Given the description of an element on the screen output the (x, y) to click on. 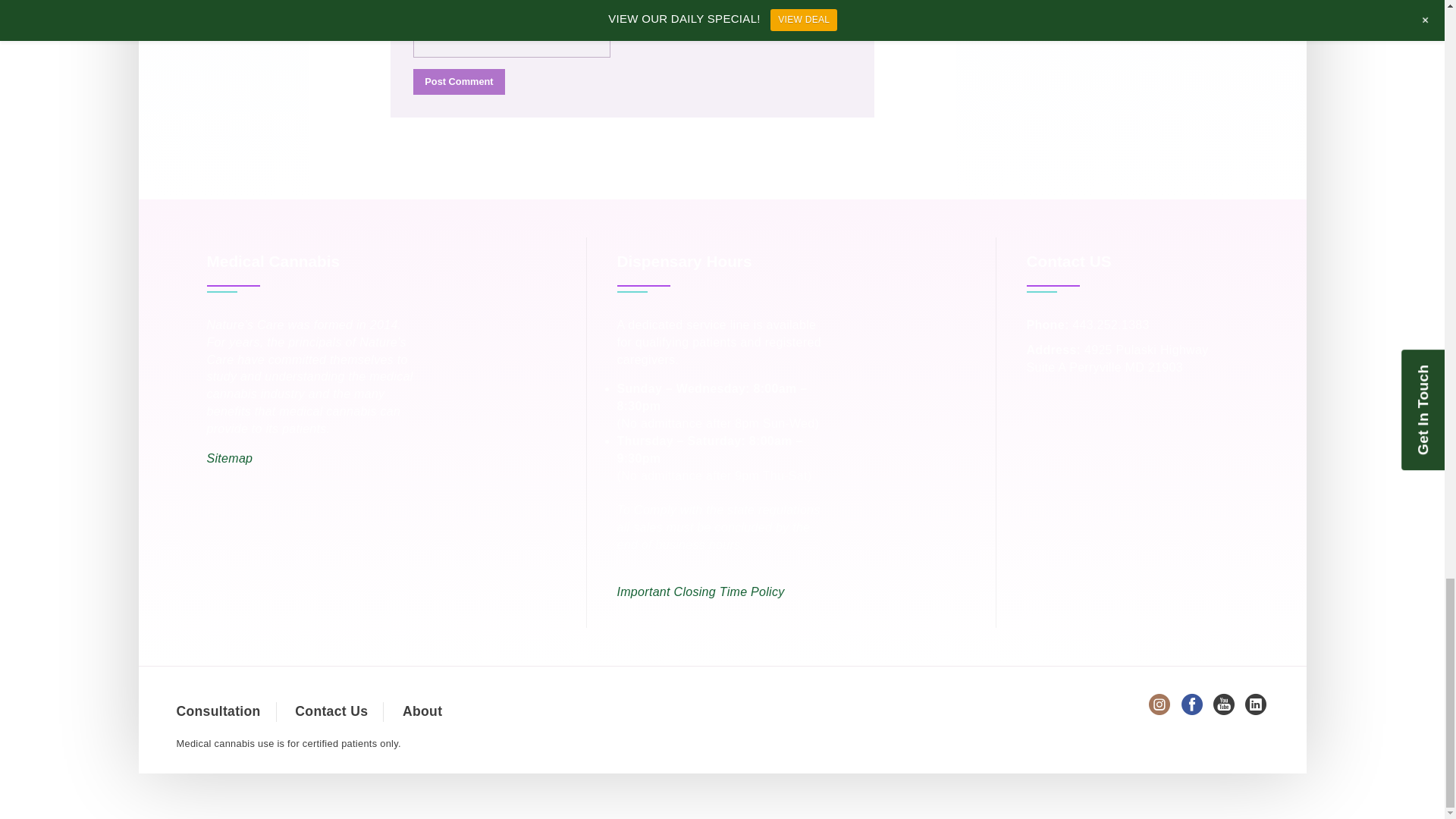
Post Comment (458, 81)
